Given the description of an element on the screen output the (x, y) to click on. 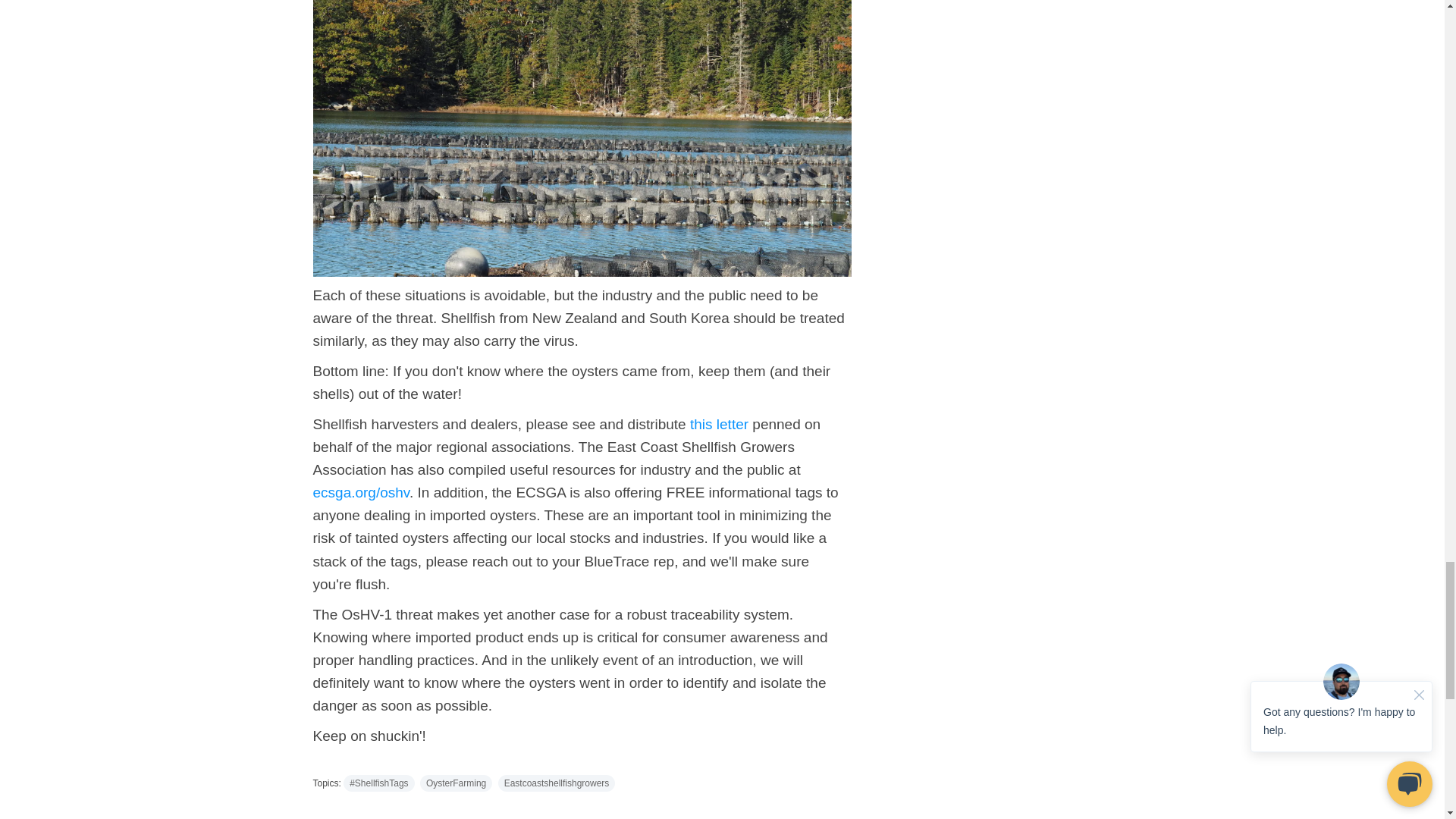
OysterFarming (456, 782)
this letter (719, 424)
Eastcoastshellfishgrowers (556, 782)
